Given the description of an element on the screen output the (x, y) to click on. 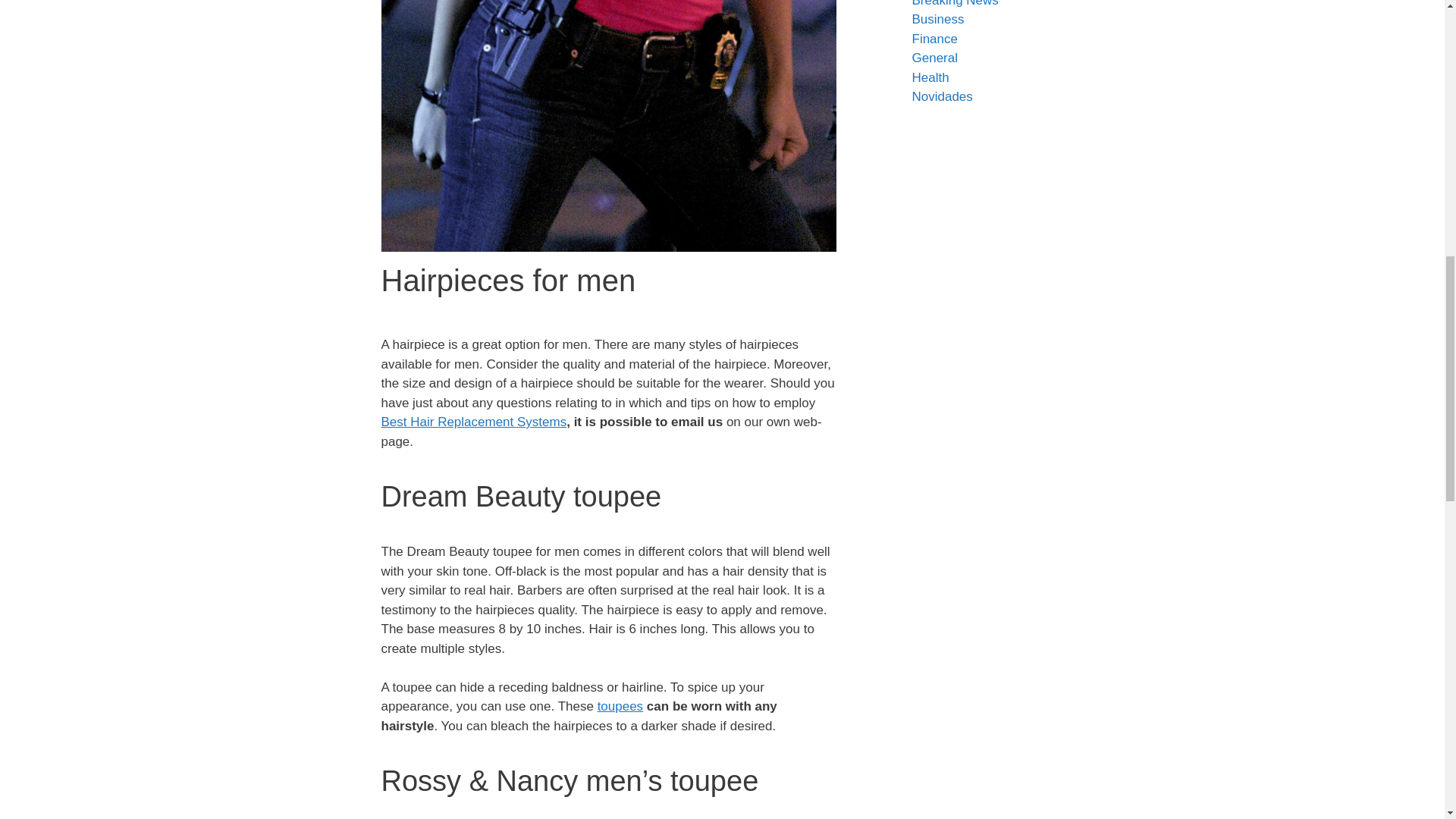
Health (930, 76)
toupees (619, 706)
Business (937, 19)
Breaking News (954, 3)
Finance (933, 38)
Best Hair Replacement Systems (473, 421)
General (933, 57)
Novidades (941, 96)
